Given the description of an element on the screen output the (x, y) to click on. 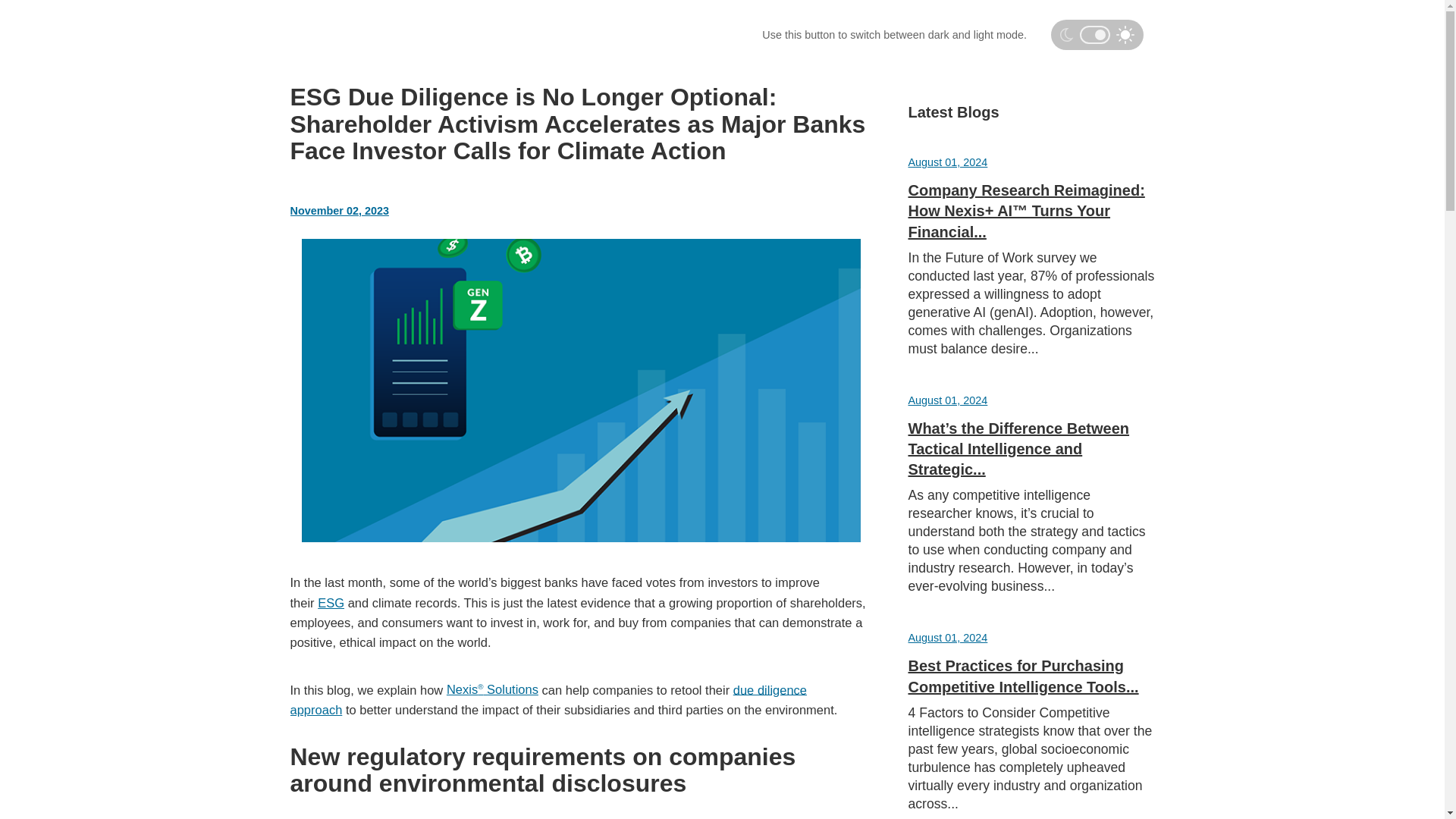
Nexis solutions (492, 689)
August 01, 2024 (948, 399)
due diligence approach (547, 698)
August 01, 2024 (948, 637)
August 01, 2024 (948, 162)
due diligence approach (547, 698)
ESG (330, 602)
ESG (330, 602)
November 02, 2023 (338, 210)
